Given the description of an element on the screen output the (x, y) to click on. 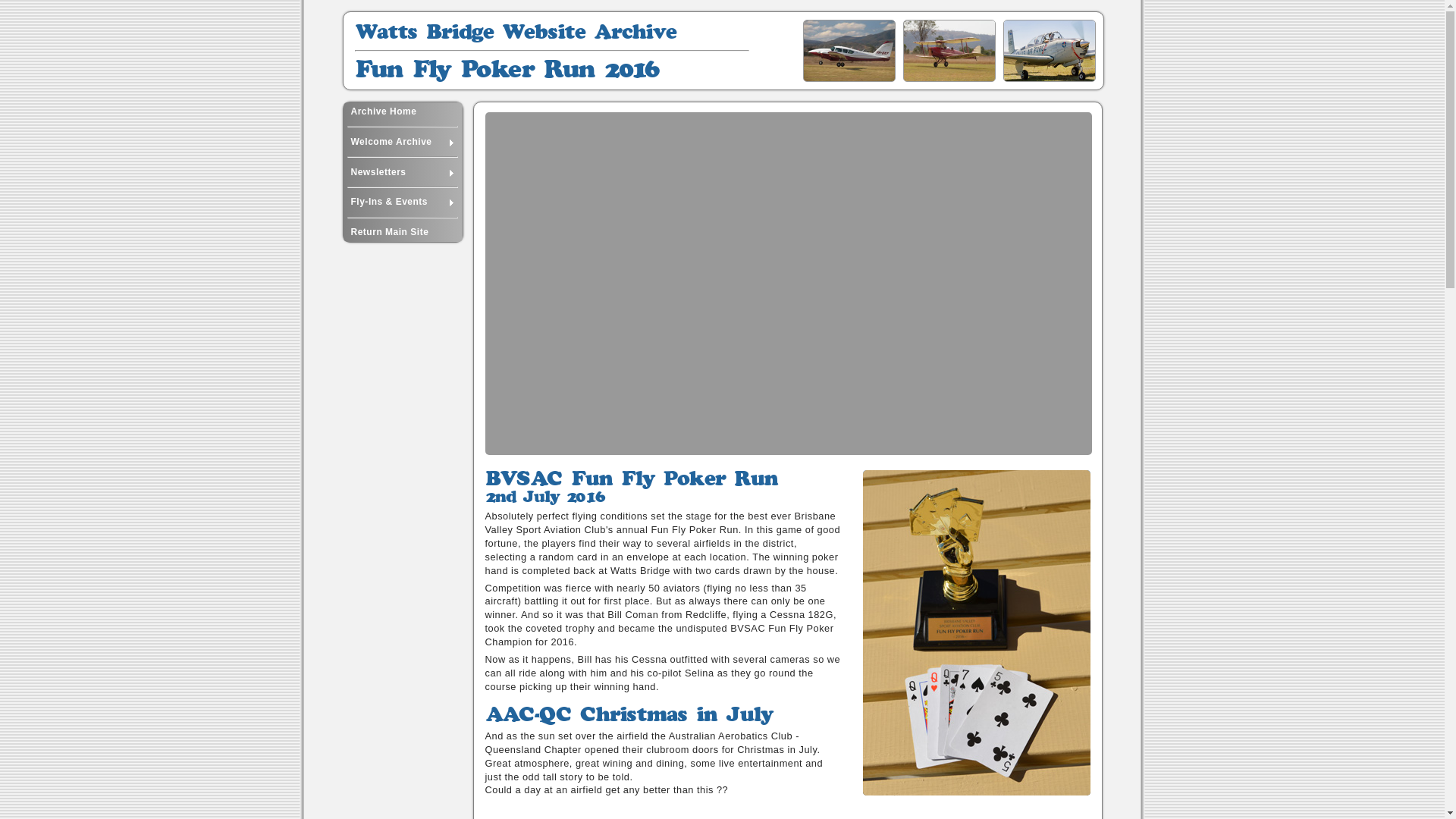
Welcome Archive Element type: text (401, 141)
Return Main Site Element type: text (401, 231)
Archive Home Element type: text (401, 111)
Newsletters Element type: text (401, 172)
Fly-Ins & Events Element type: text (401, 201)
